Given the description of an element on the screen output the (x, y) to click on. 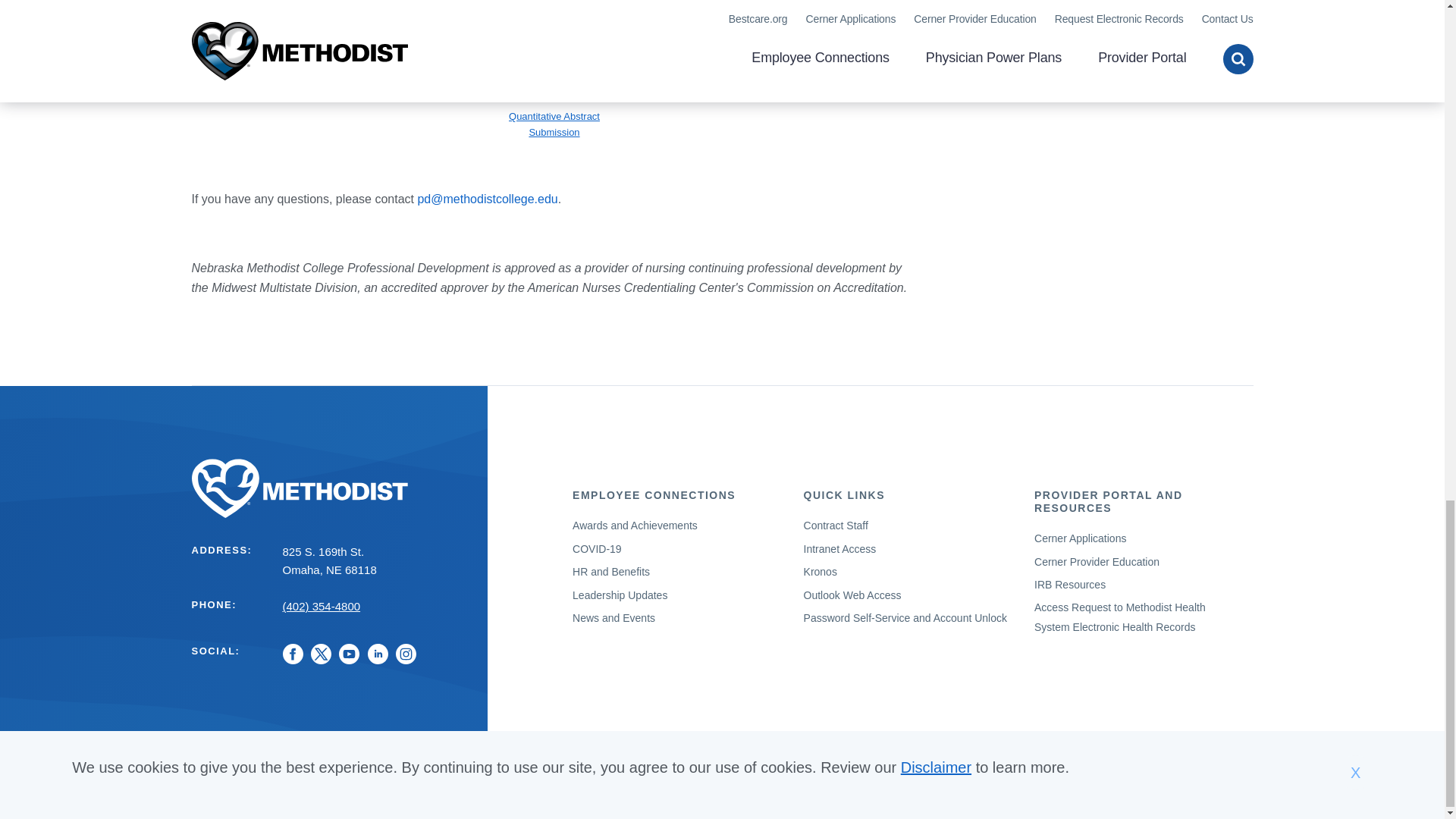
Quantitative Abstract Submission (553, 124)
Awards and Achievements (634, 525)
HR and Benefits (610, 571)
COVID-19 (596, 548)
EMPLOYEE CONNECTIONS (653, 494)
Home (329, 488)
Methodist Health System (329, 488)
